Given the description of an element on the screen output the (x, y) to click on. 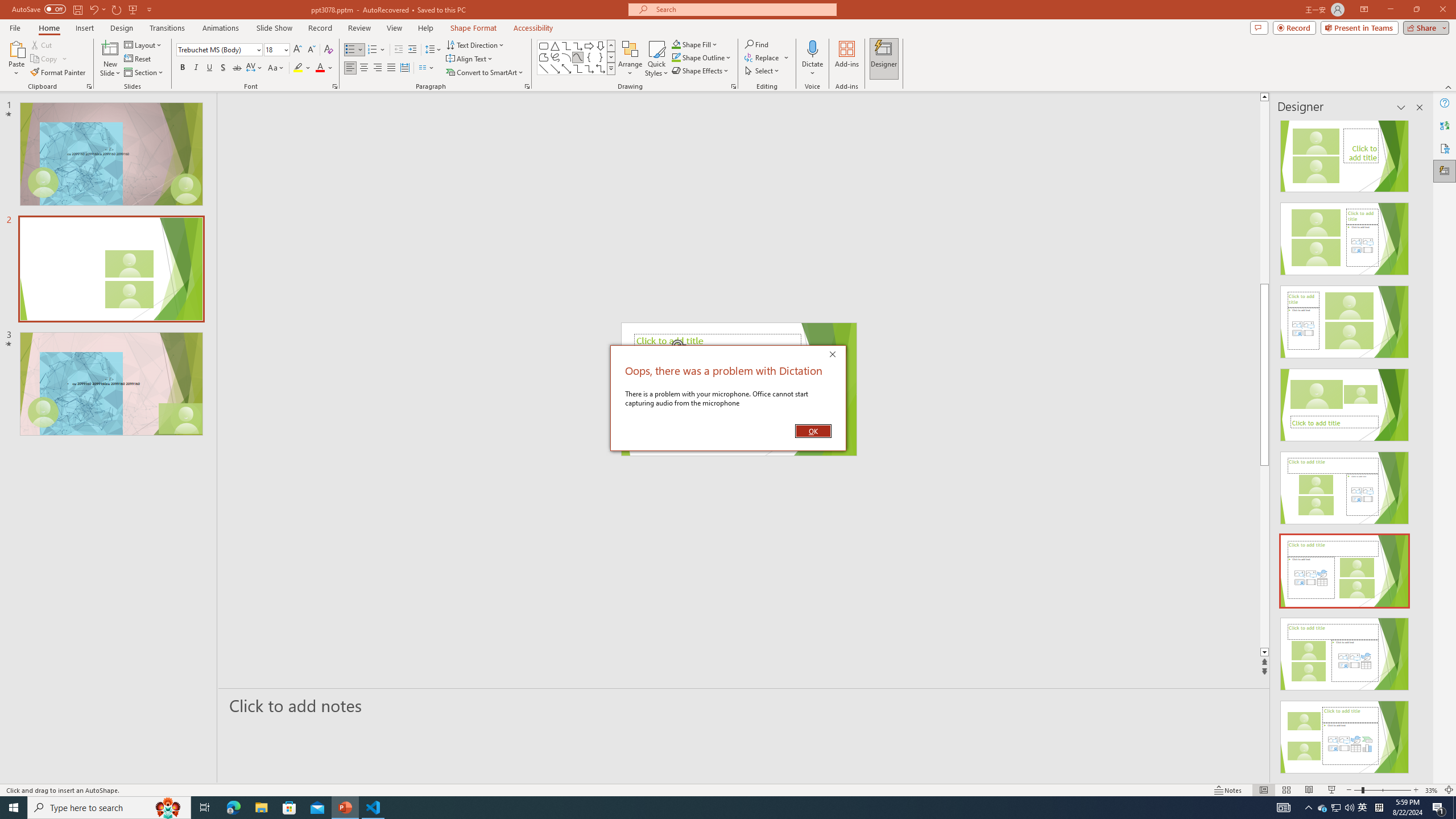
OK (812, 431)
